Given the description of an element on the screen output the (x, y) to click on. 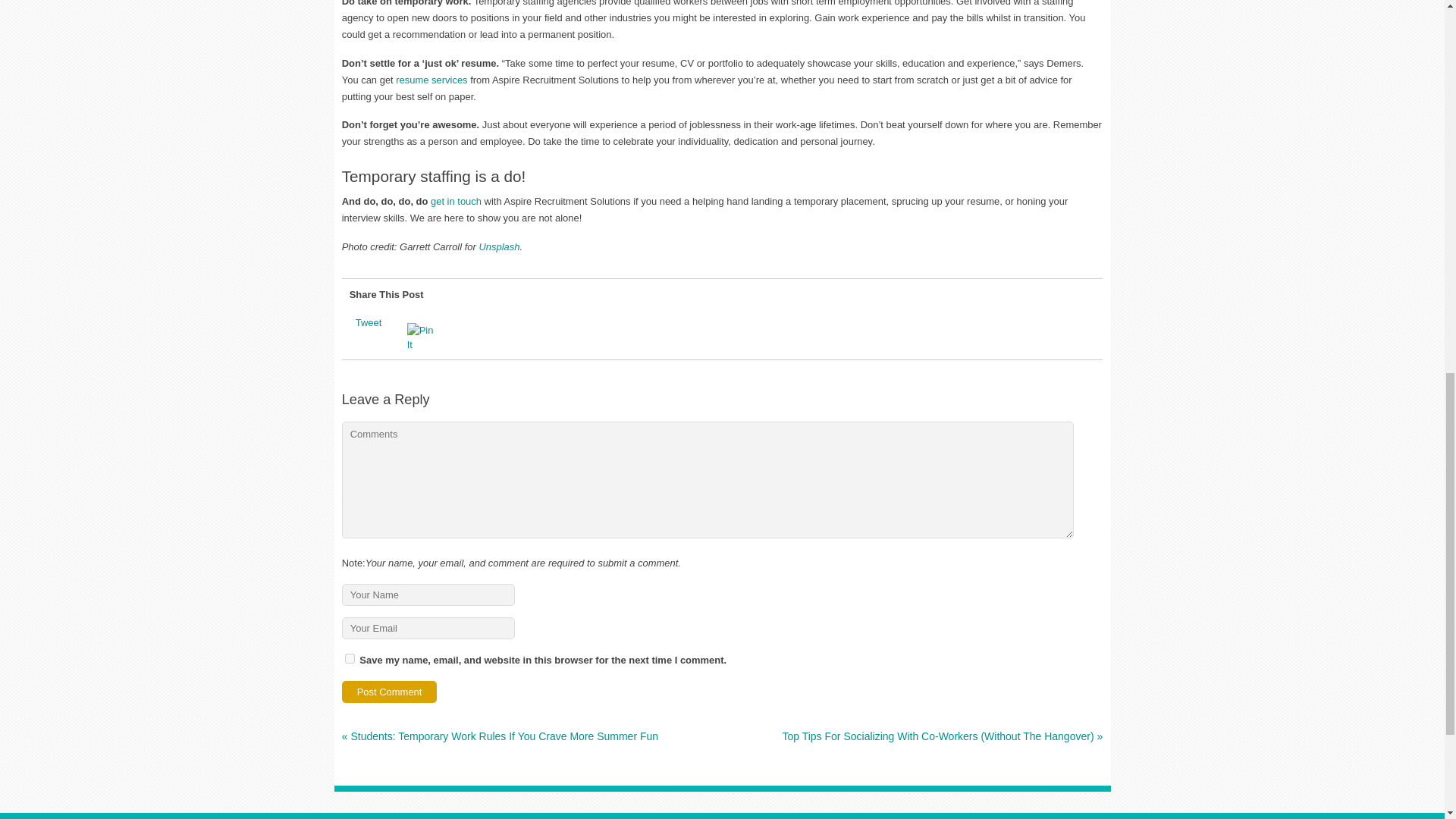
Pin It (424, 337)
Post Comment (390, 691)
Unsplash (499, 246)
get in touch (455, 201)
yes (350, 658)
resume services (431, 79)
Tweet (368, 322)
Post Comment (390, 691)
